Given the description of an element on the screen output the (x, y) to click on. 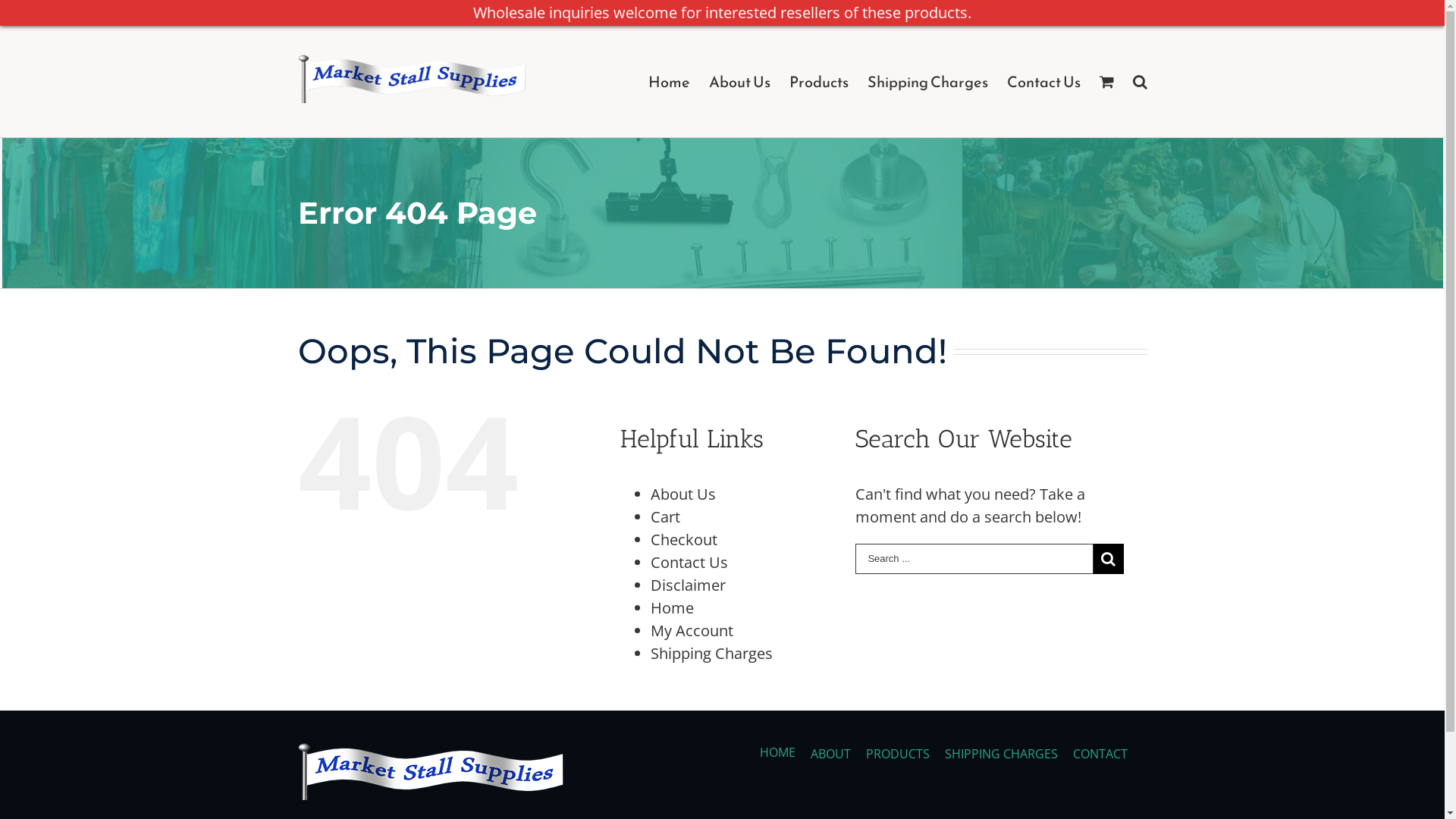
ABOUT Element type: text (830, 753)
SHIPPING CHARGES Element type: text (1001, 753)
Contact Us Element type: text (1043, 80)
About Us Element type: text (738, 80)
Contact Us Element type: text (689, 562)
Search Element type: hover (1139, 80)
Disclaimer Element type: text (687, 584)
Products Element type: text (817, 80)
PRODUCTS Element type: text (897, 753)
Checkout Element type: text (683, 539)
Cart Element type: text (665, 516)
About Us Element type: text (682, 493)
Shipping Charges Element type: text (927, 80)
Shipping Charges Element type: text (711, 653)
CONTACT Element type: text (1100, 753)
My Account Element type: text (691, 630)
HOME Element type: text (777, 752)
Home Element type: text (671, 607)
Home Element type: text (668, 80)
